Given the description of an element on the screen output the (x, y) to click on. 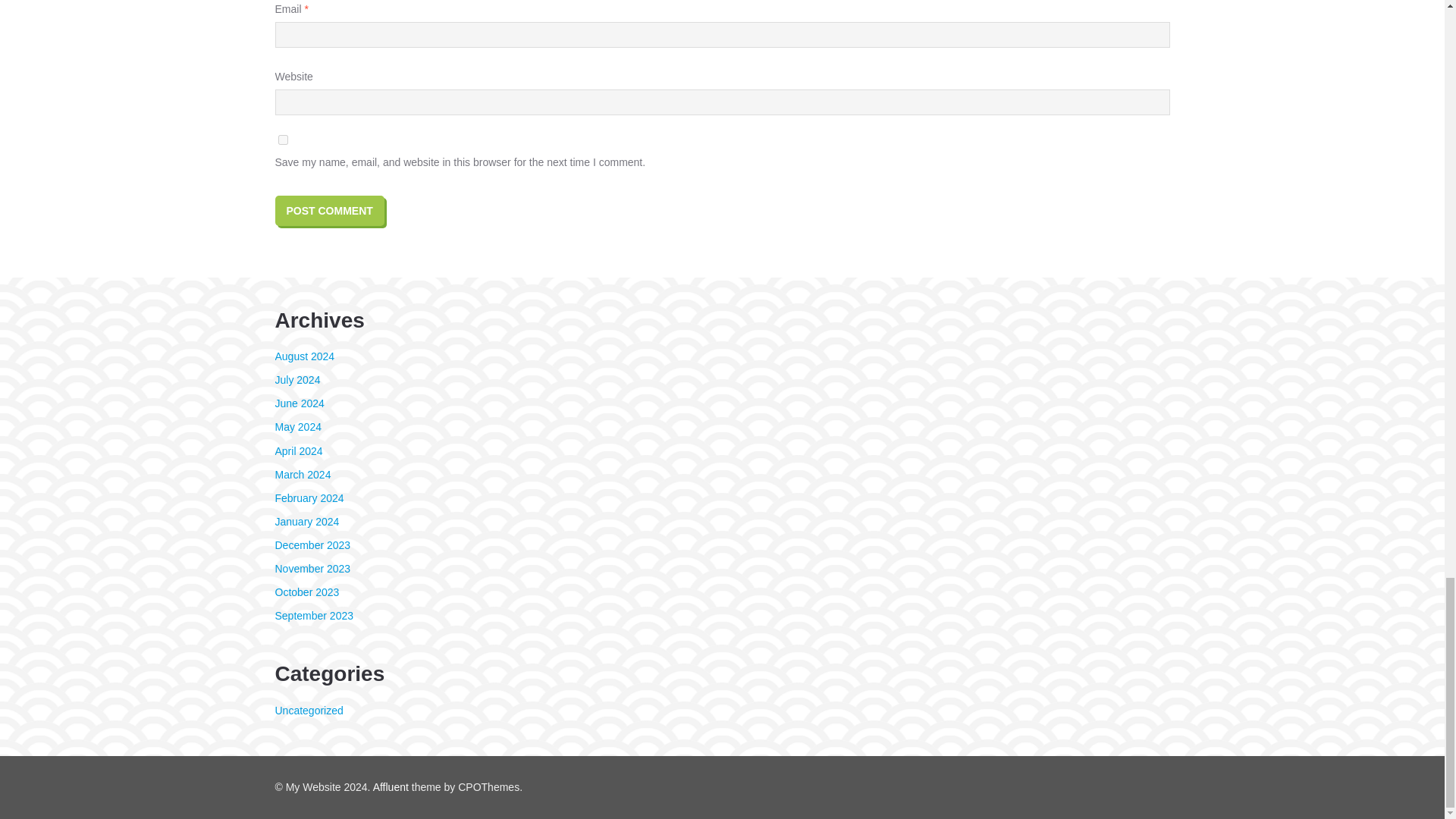
April 2024 (298, 451)
March 2024 (302, 474)
September 2023 (314, 615)
May 2024 (297, 426)
July 2024 (297, 379)
November 2023 (312, 568)
January 2024 (307, 521)
August 2024 (304, 356)
Post Comment (329, 210)
June 2024 (299, 403)
